Given the description of an element on the screen output the (x, y) to click on. 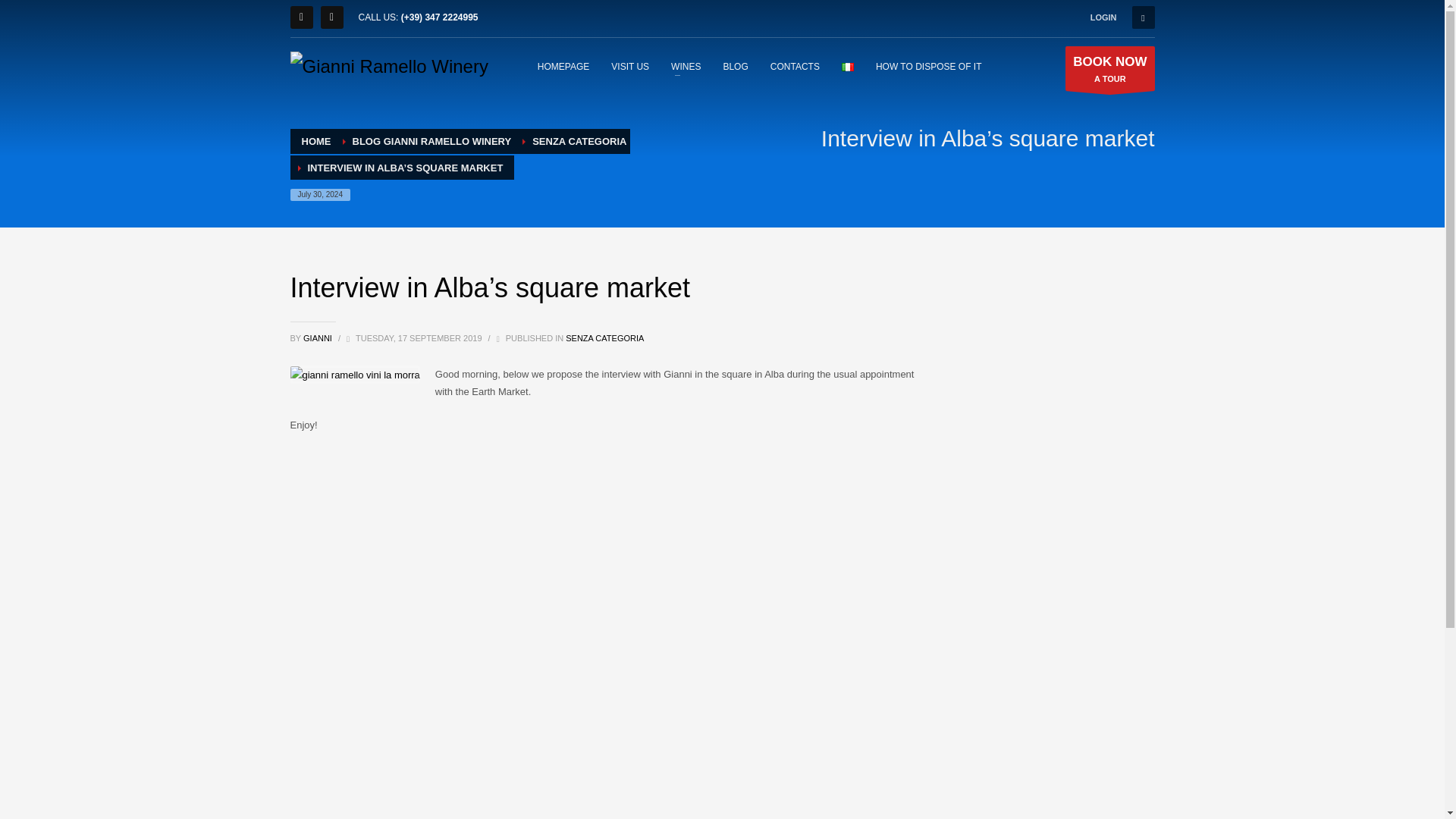
HOME (316, 141)
CONTACTS (794, 66)
LOGIN (1103, 17)
GIANNI (318, 338)
VISIT US (630, 66)
HOMEPAGE (563, 66)
Wine Producer in La Morra (1109, 67)
HOW TO DISPOSE OF IT (388, 66)
SENZA CATEGORIA (928, 66)
Instagram (579, 141)
SENZA CATEGORIA (331, 16)
BLOG (604, 338)
WINES (735, 66)
Gianni Ramello intervistato al Mercato della Terra ad Alba (686, 66)
